Given the description of an element on the screen output the (x, y) to click on. 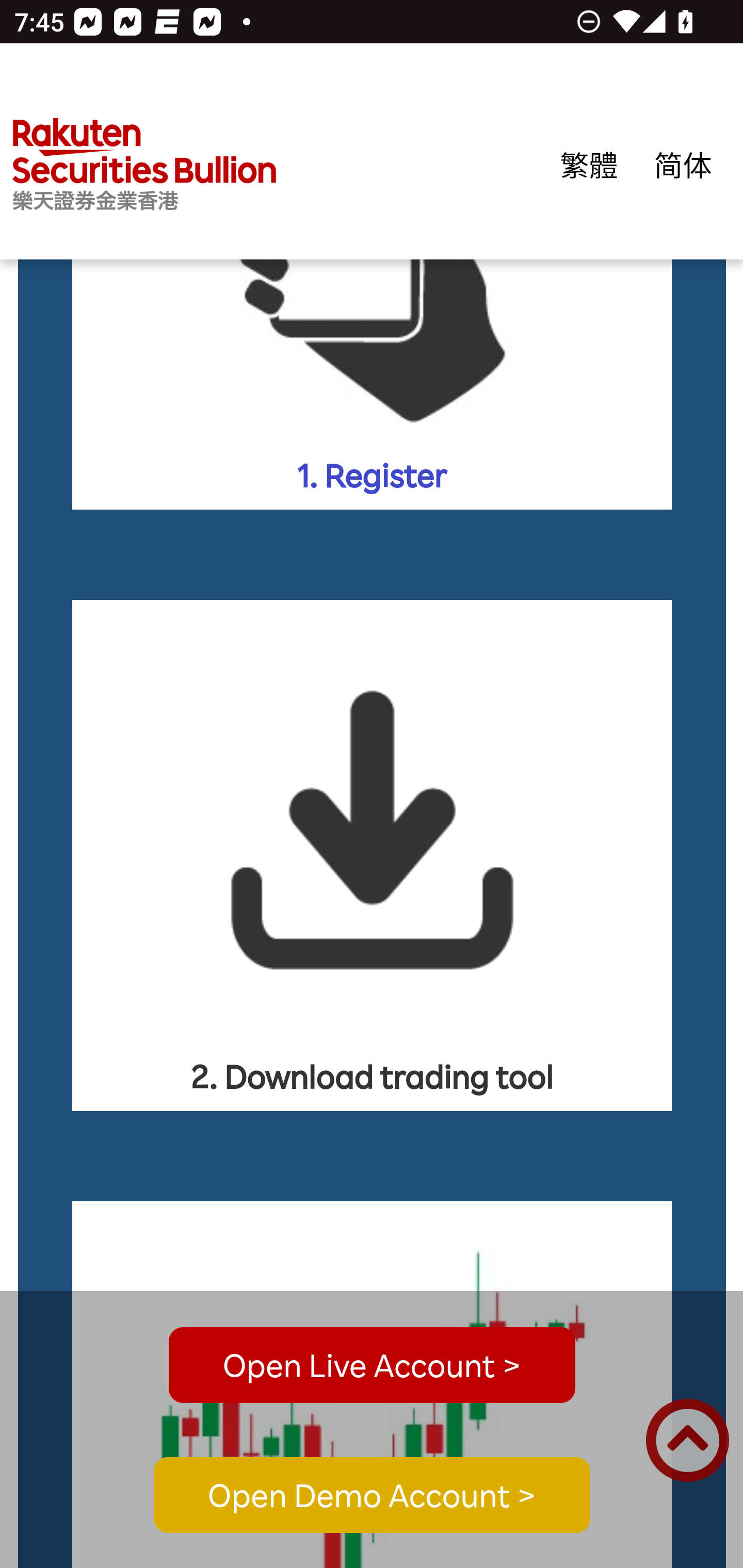
繁體 (589, 164)
简体 (683, 164)
2. Download trading tool (372, 854)
Open Live Account > (371, 1365)
Open Demo Account > (371, 1495)
